Given the description of an element on the screen output the (x, y) to click on. 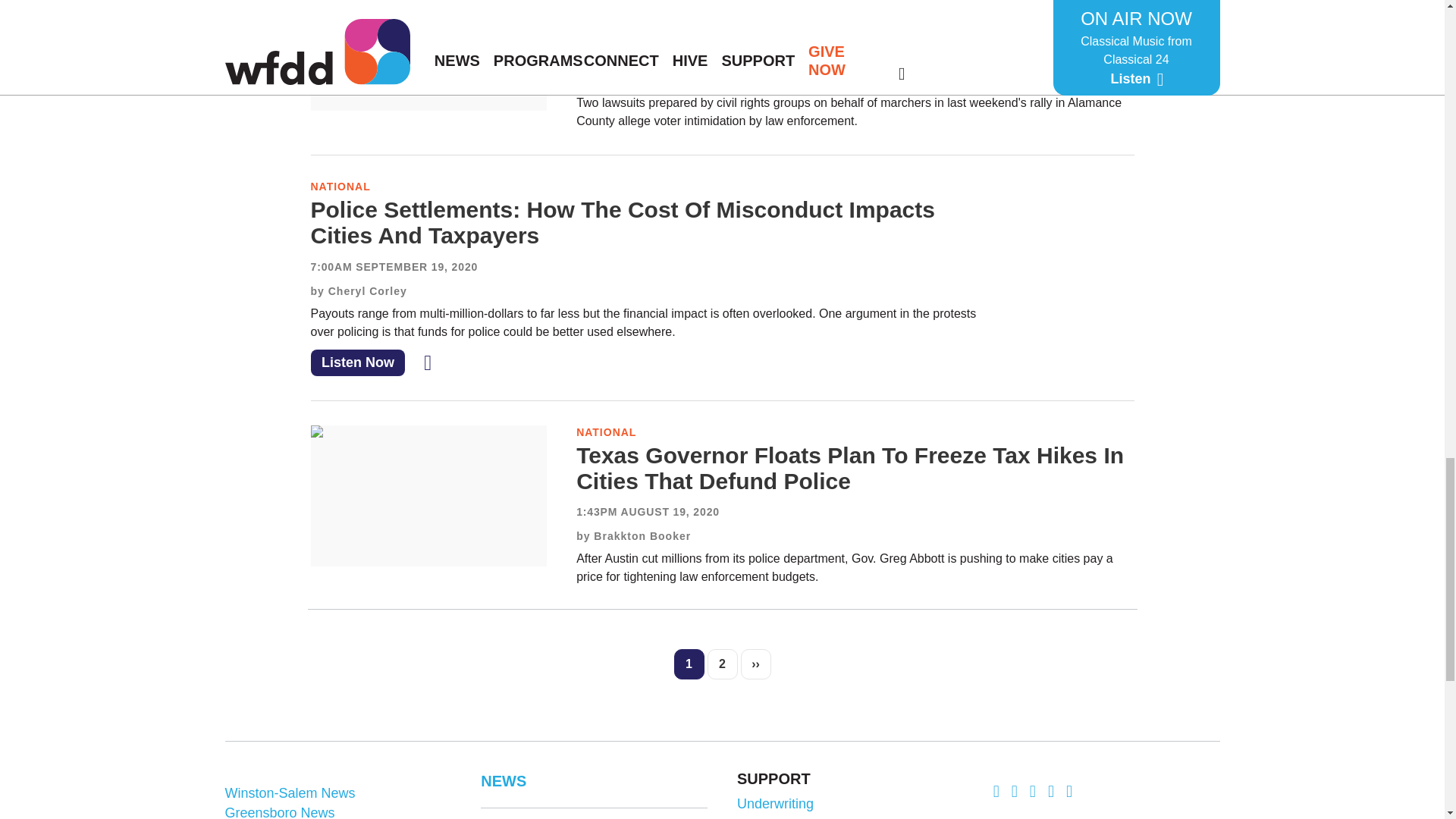
Go to next page (754, 664)
Current page (687, 664)
Go to page 2 (721, 664)
